Given the description of an element on the screen output the (x, y) to click on. 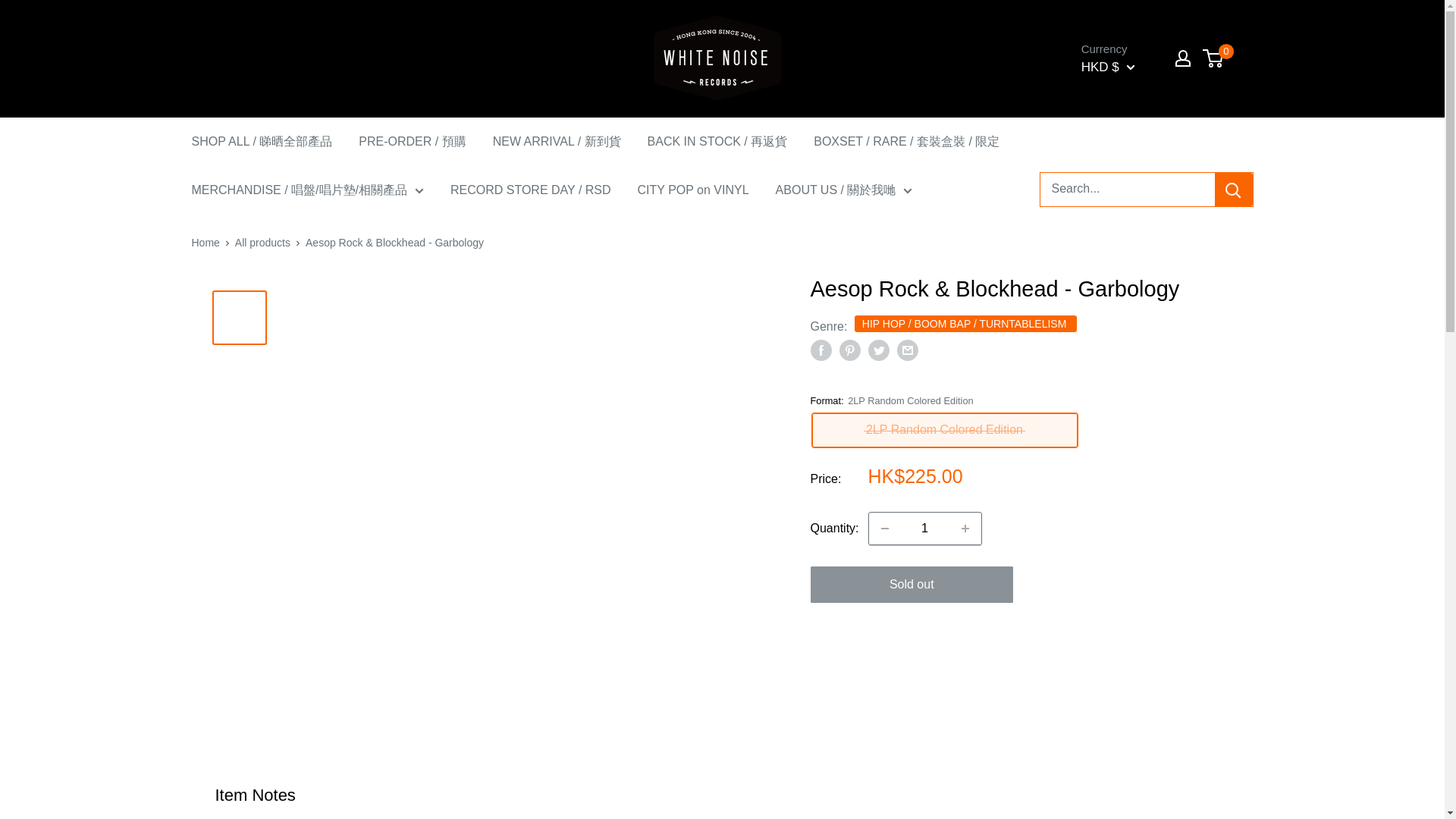
Increase quantity by 1 (965, 528)
WHITE NOISE RECORDS (714, 58)
1 (925, 528)
EUR (1120, 110)
TWD (1120, 156)
2LP Random Colored Edition (943, 430)
USD (1120, 180)
HKD (1120, 134)
Decrease quantity by 1 (885, 528)
YouTube video player (1018, 722)
